Given the description of an element on the screen output the (x, y) to click on. 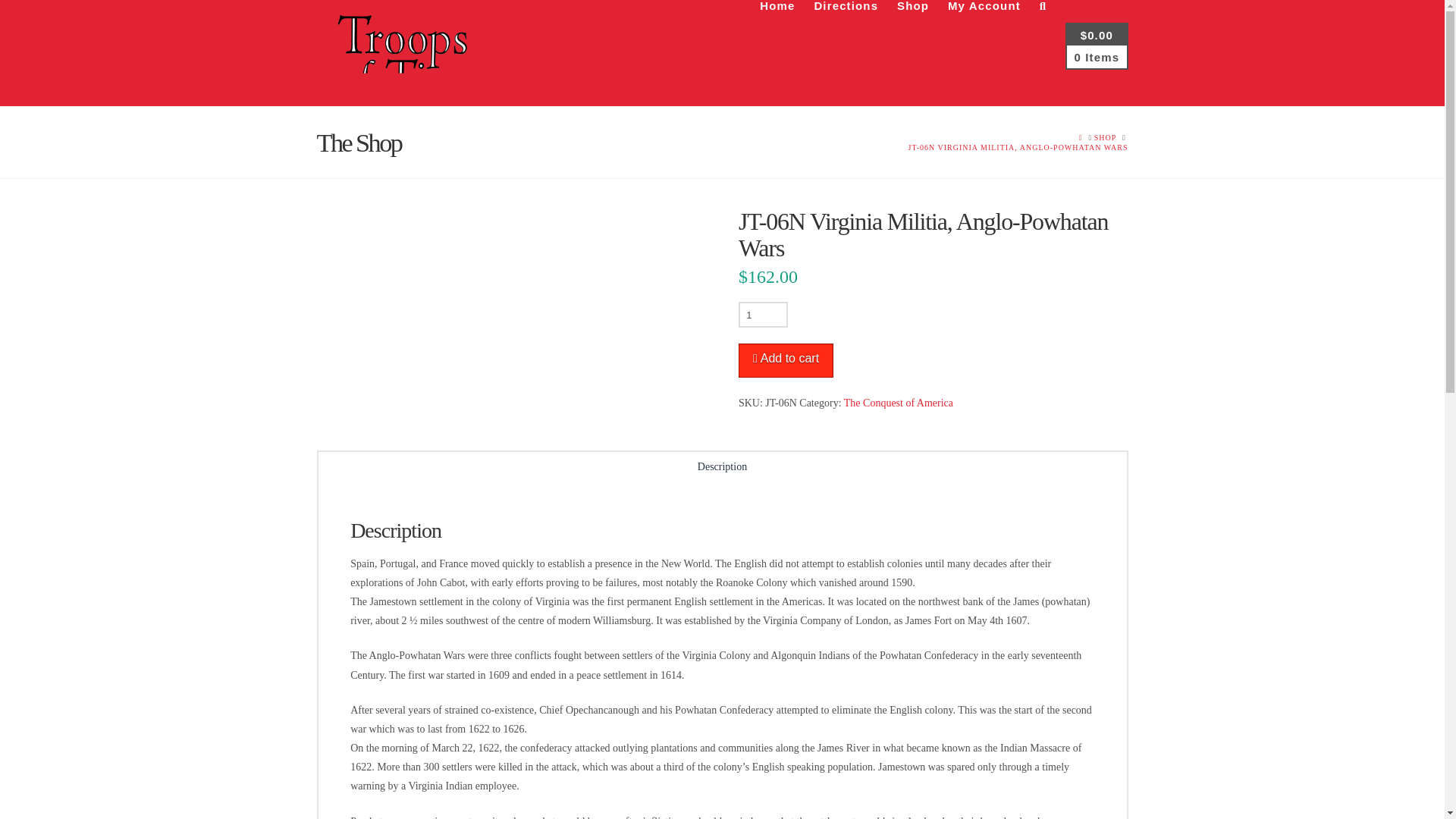
SHOP (1105, 137)
1 (762, 314)
You Are Here (1018, 147)
The Conquest of America (898, 402)
Add to cart (785, 360)
JT-06N VIRGINIA MILITIA, ANGLO-POWHATAN WARS (1018, 147)
Description (722, 468)
